Given the description of an element on the screen output the (x, y) to click on. 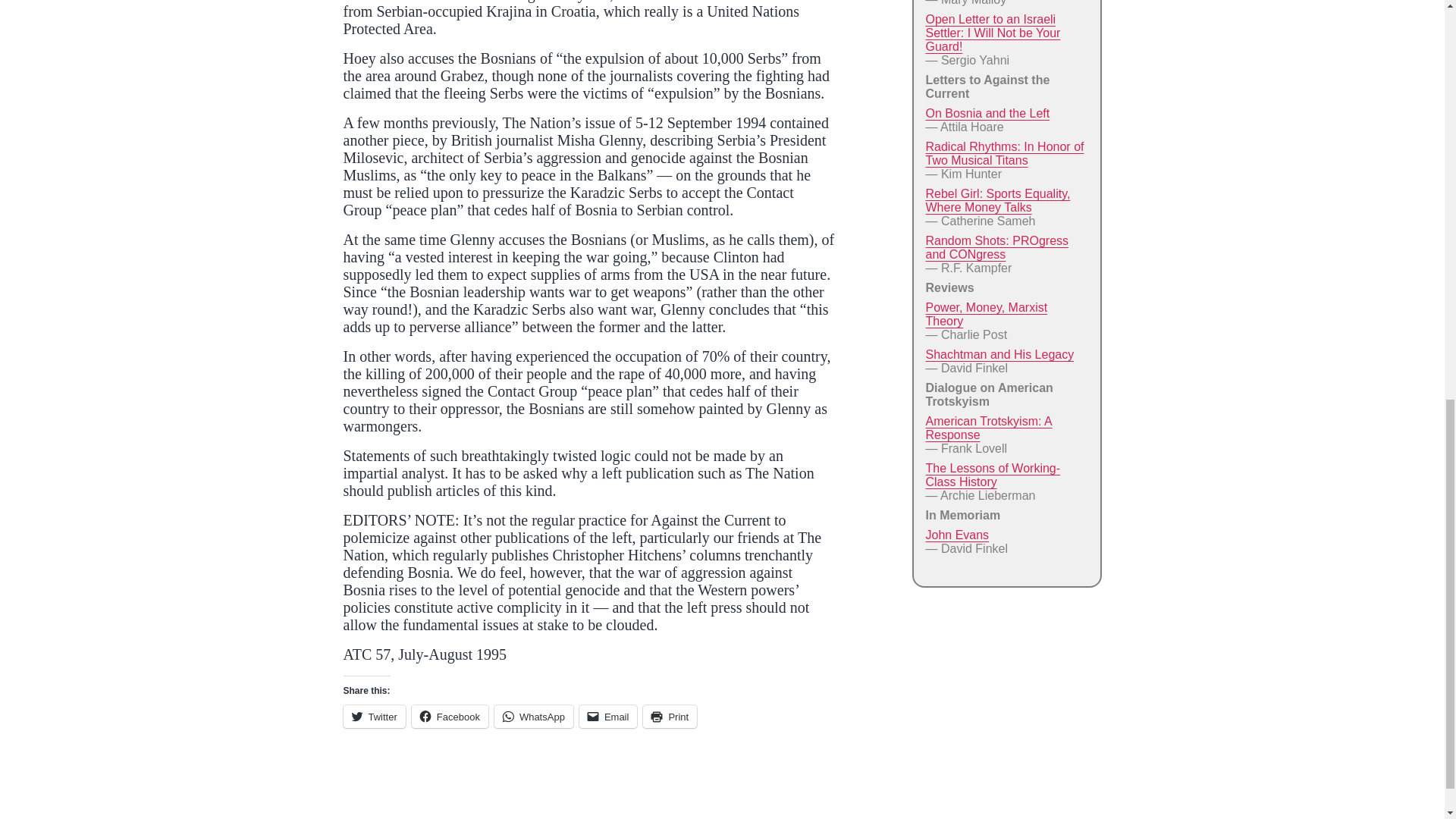
Click to email a link to a friend (608, 716)
On Bosnia and the Left (986, 113)
Rebel Girl: Sports Equality, Where Money Talks (997, 200)
Click to share on WhatsApp (534, 716)
Twitter (373, 716)
Click to share on Facebook (449, 716)
Click to share on Twitter (373, 716)
John Evans (956, 534)
Shachtman and His Legacy (999, 354)
Open Letter to an Israeli Settler: I Will Not be Your Guard! (991, 33)
